Given the description of an element on the screen output the (x, y) to click on. 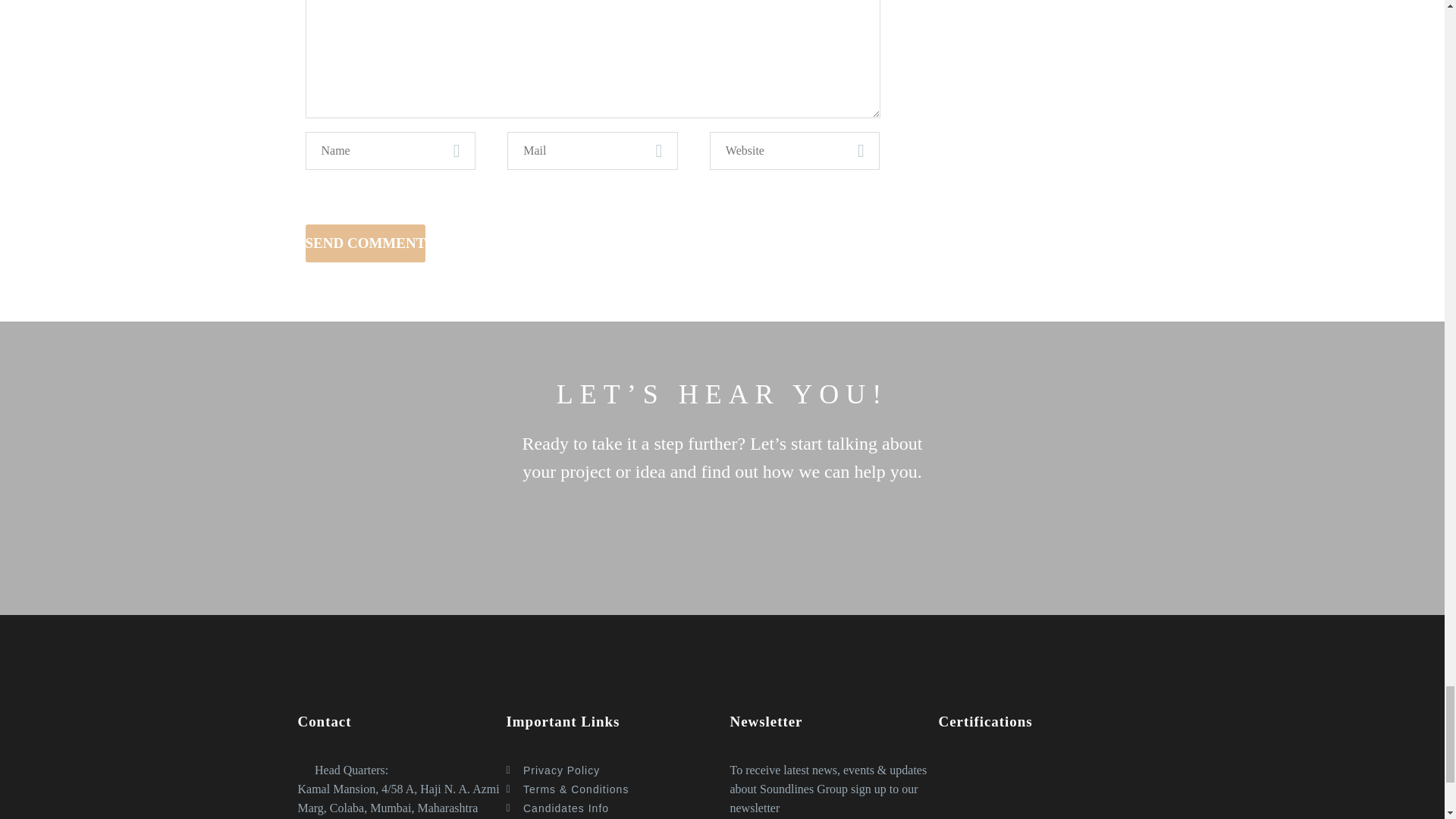
Privacy Policy (610, 770)
SEND COMMENT (364, 243)
Candidates Info (610, 808)
